Given the description of an element on the screen output the (x, y) to click on. 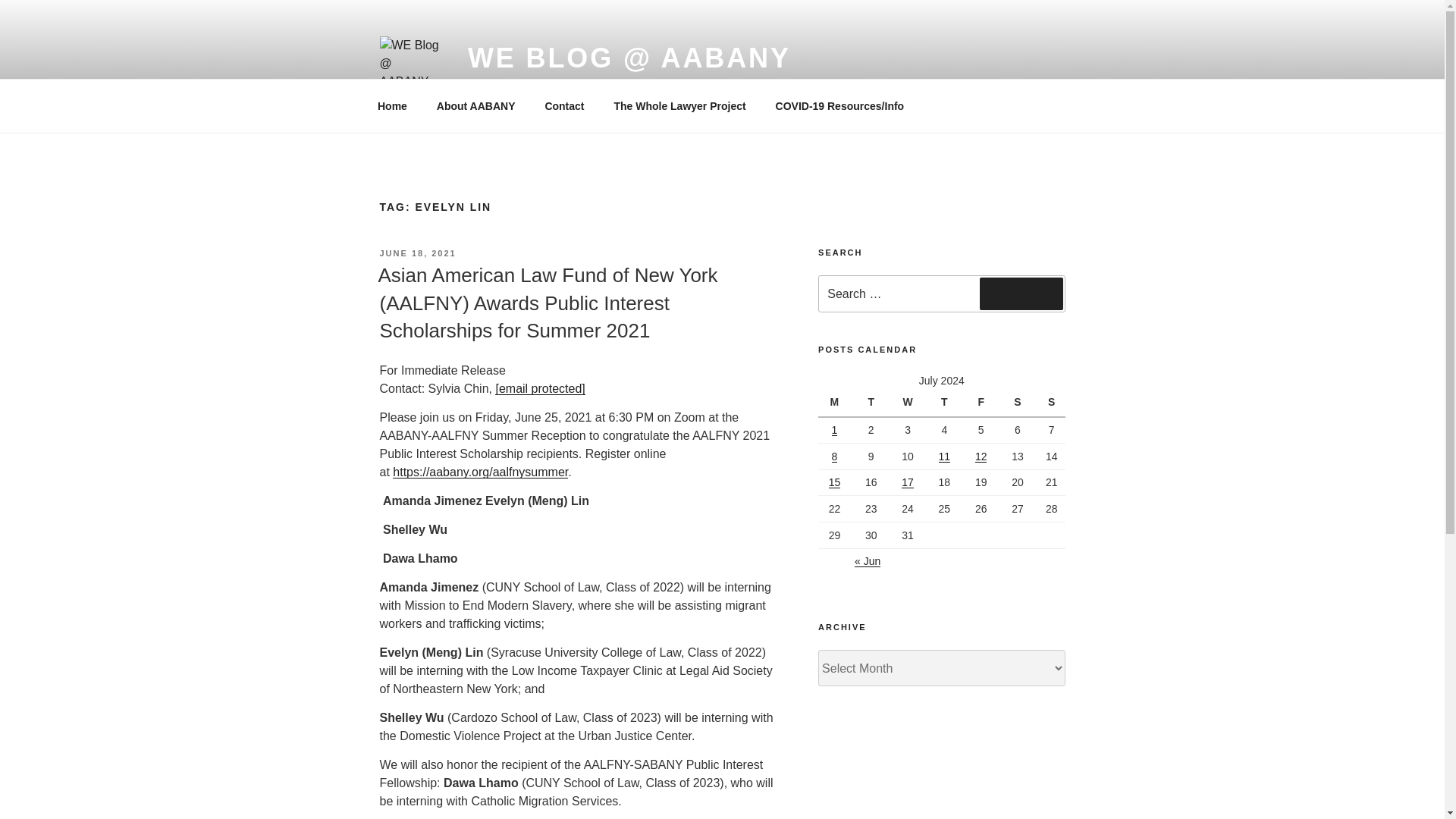
Wednesday (909, 402)
Saturday (1019, 402)
The Whole Lawyer Project (678, 106)
15 (834, 481)
Home (392, 106)
About AABANY (475, 106)
12 (981, 456)
Friday (982, 402)
JUNE 18, 2021 (416, 252)
Sunday (1051, 402)
11 (944, 456)
Thursday (945, 402)
17 (907, 481)
Tuesday (872, 402)
Monday (836, 402)
